Given the description of an element on the screen output the (x, y) to click on. 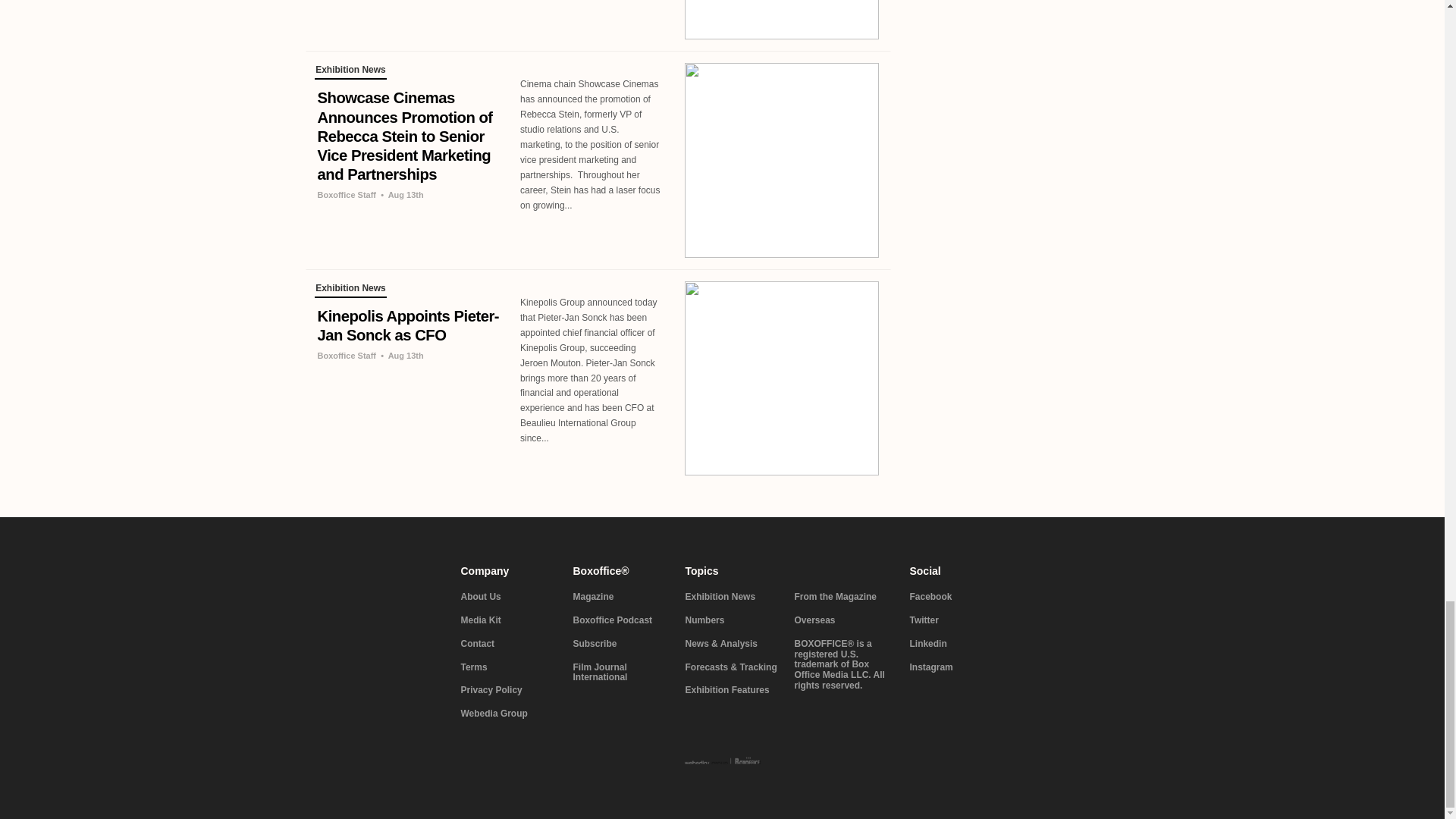
Exhibition News (349, 290)
Terms (508, 667)
Contact (508, 644)
About Us (508, 597)
Company (508, 571)
Privacy Policy (508, 690)
Exhibition News (349, 71)
Webedia Group (508, 714)
Media Kit (508, 620)
